Given the description of an element on the screen output the (x, y) to click on. 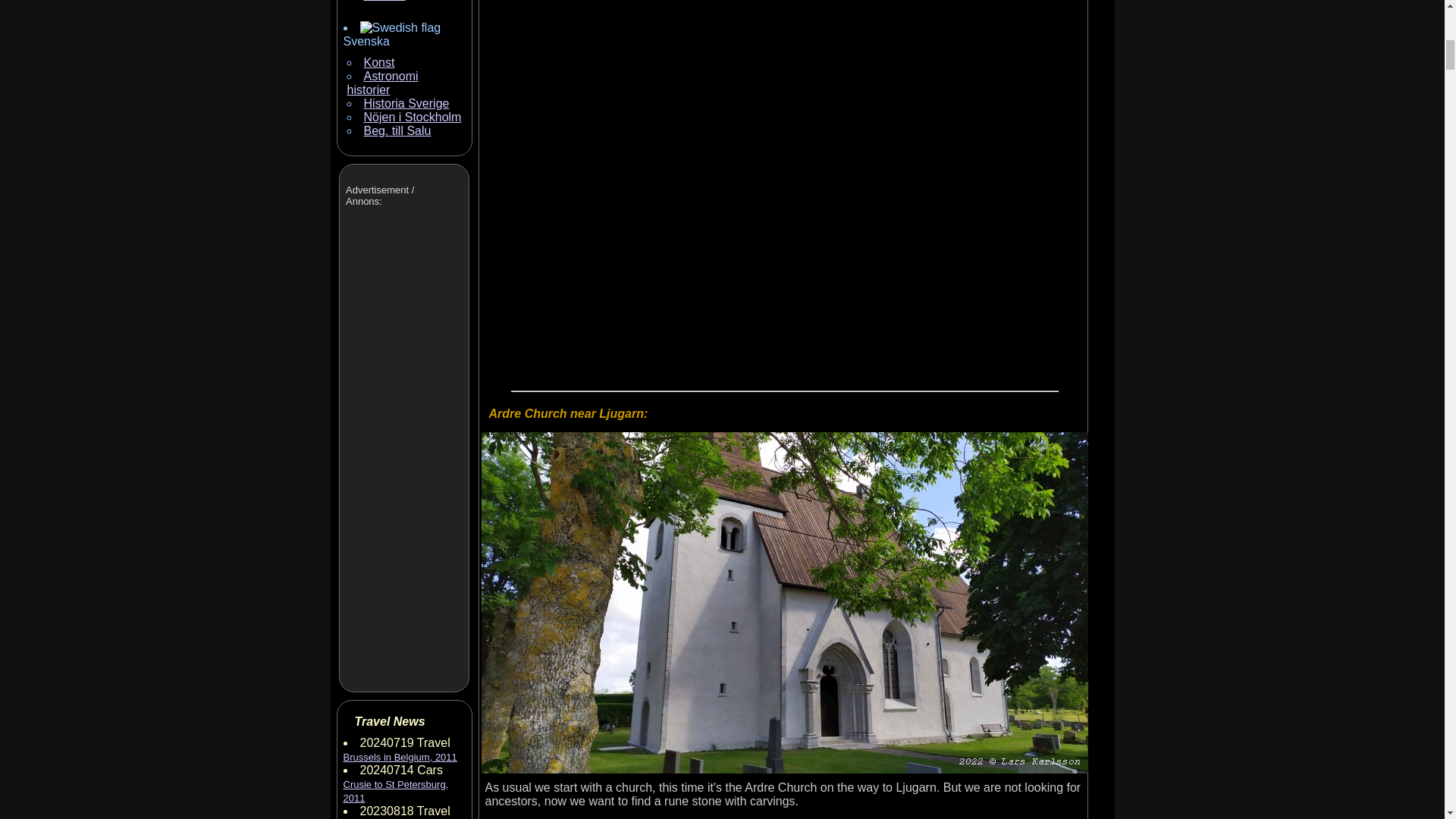
Astronomi historier (383, 82)
Konst (379, 62)
Brussels in Belgium, 2011 (399, 756)
Crusie to St Petersburg, 2011 (395, 790)
Historia Sverige (406, 103)
Beg. till Salu (397, 130)
Contact (385, 0)
